Given the description of an element on the screen output the (x, y) to click on. 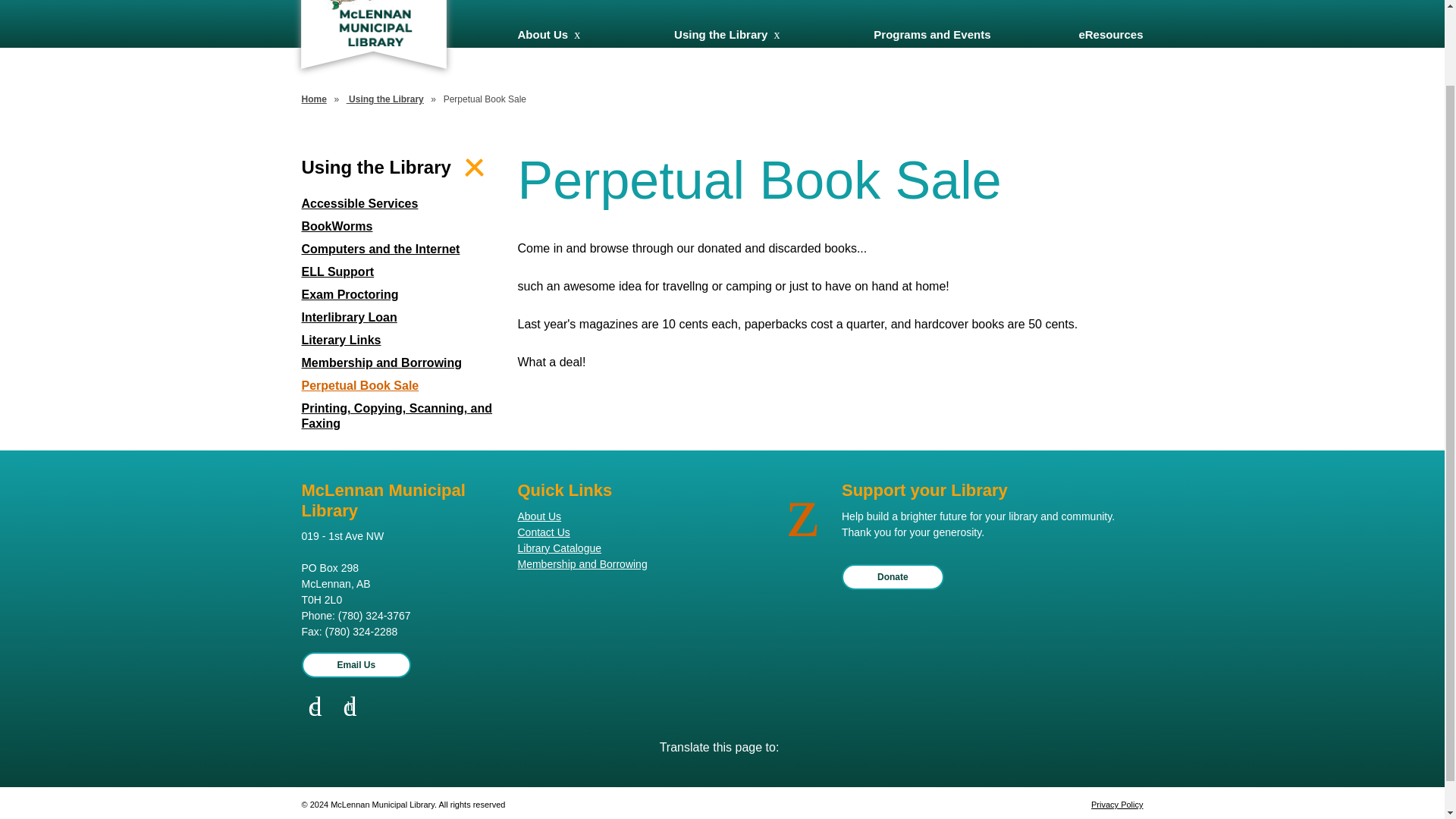
Using the Library (720, 34)
McLennan Municipal Library (372, 22)
About Us (541, 34)
Instagram (350, 706)
Facebook (315, 706)
